Given the description of an element on the screen output the (x, y) to click on. 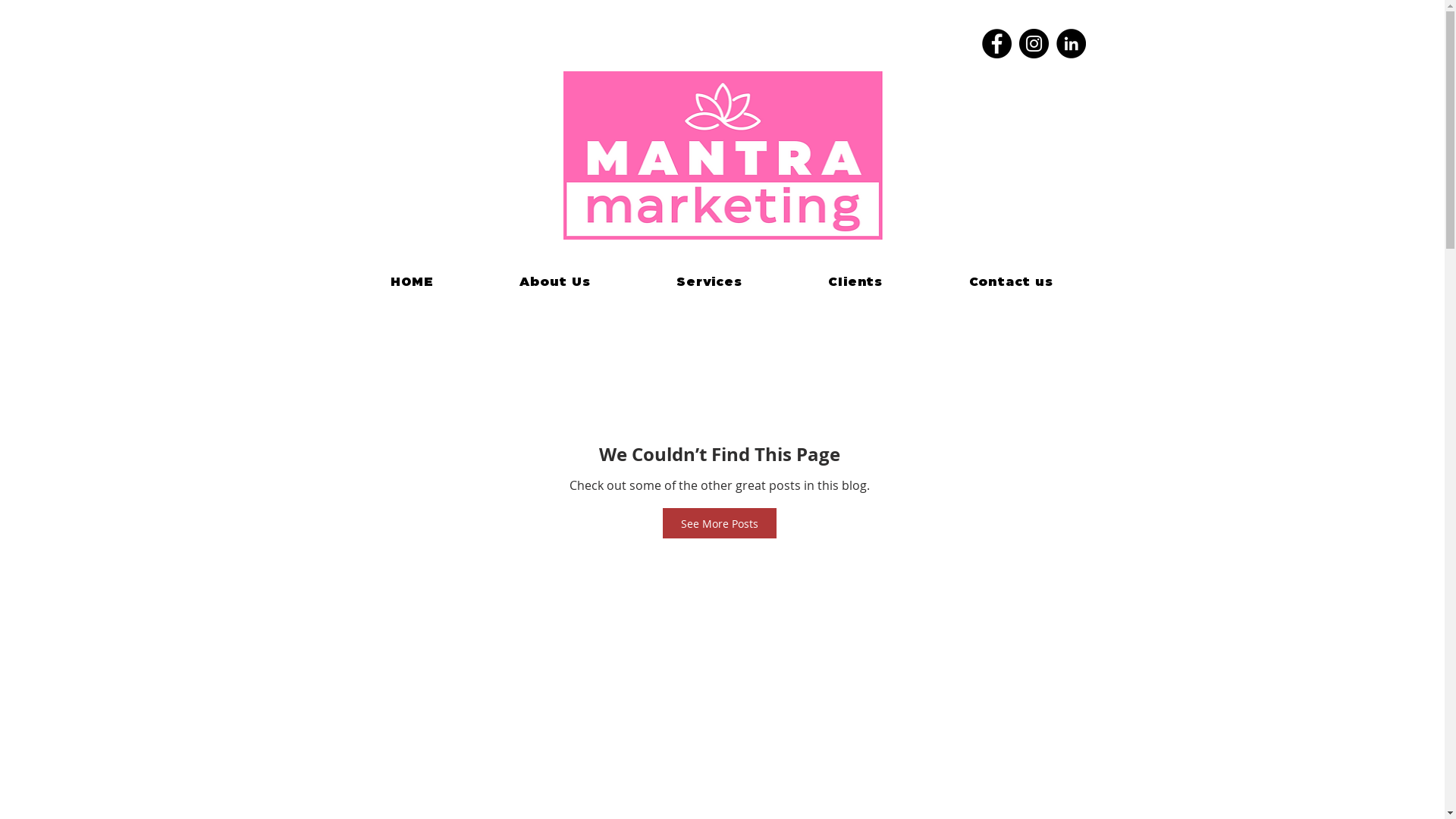
Contact us Element type: text (1010, 282)
Services Element type: text (708, 282)
See More Posts Element type: text (719, 523)
About Us Element type: text (554, 282)
Clients Element type: text (855, 282)
HOME Element type: text (411, 282)
